Given the description of an element on the screen output the (x, y) to click on. 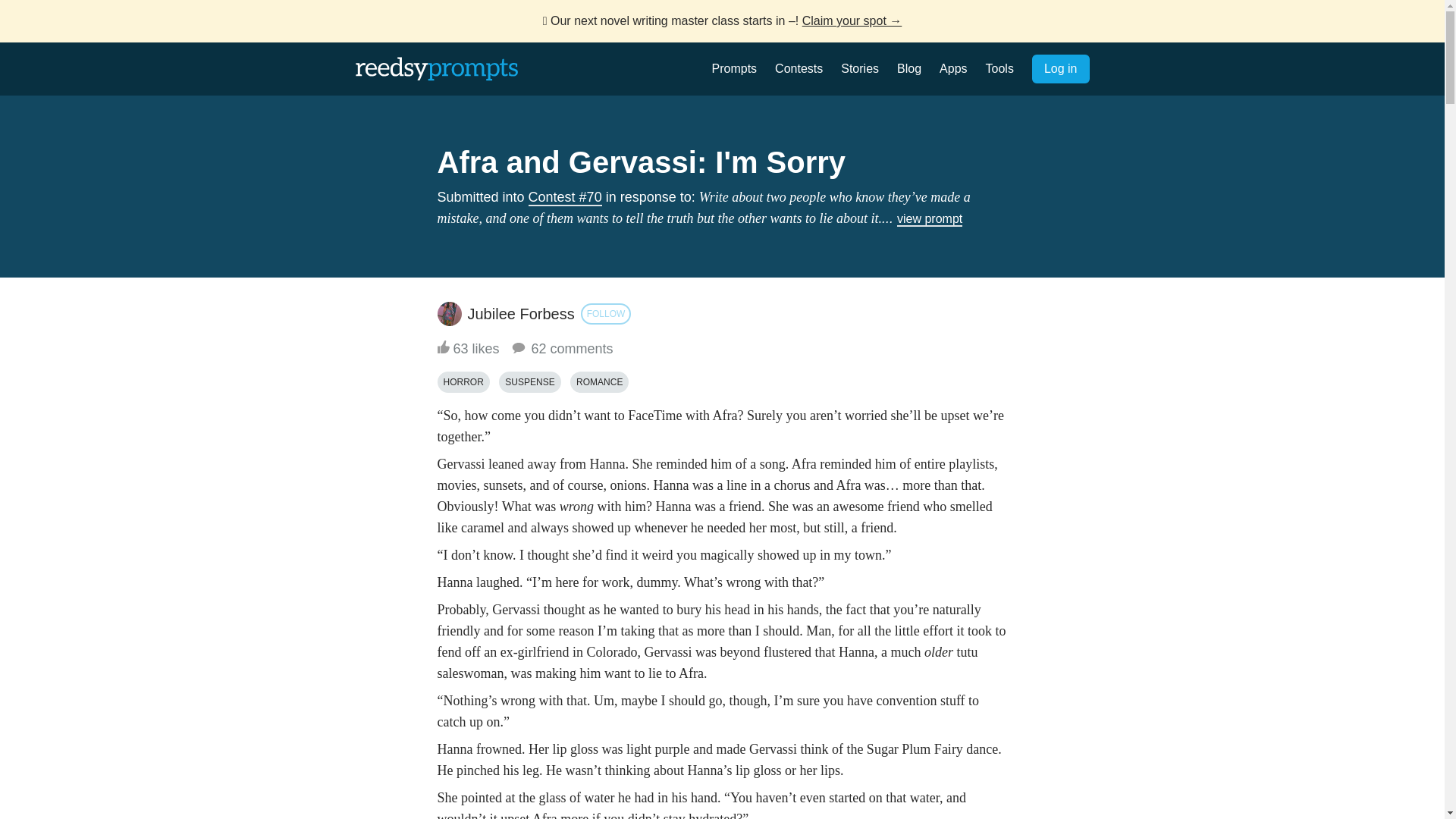
Prompts (734, 68)
Stories (860, 68)
Log in (1060, 68)
Contests (798, 68)
Apps (952, 68)
Tools (999, 68)
Blog (908, 68)
62 comments (560, 348)
